Given the description of an element on the screen output the (x, y) to click on. 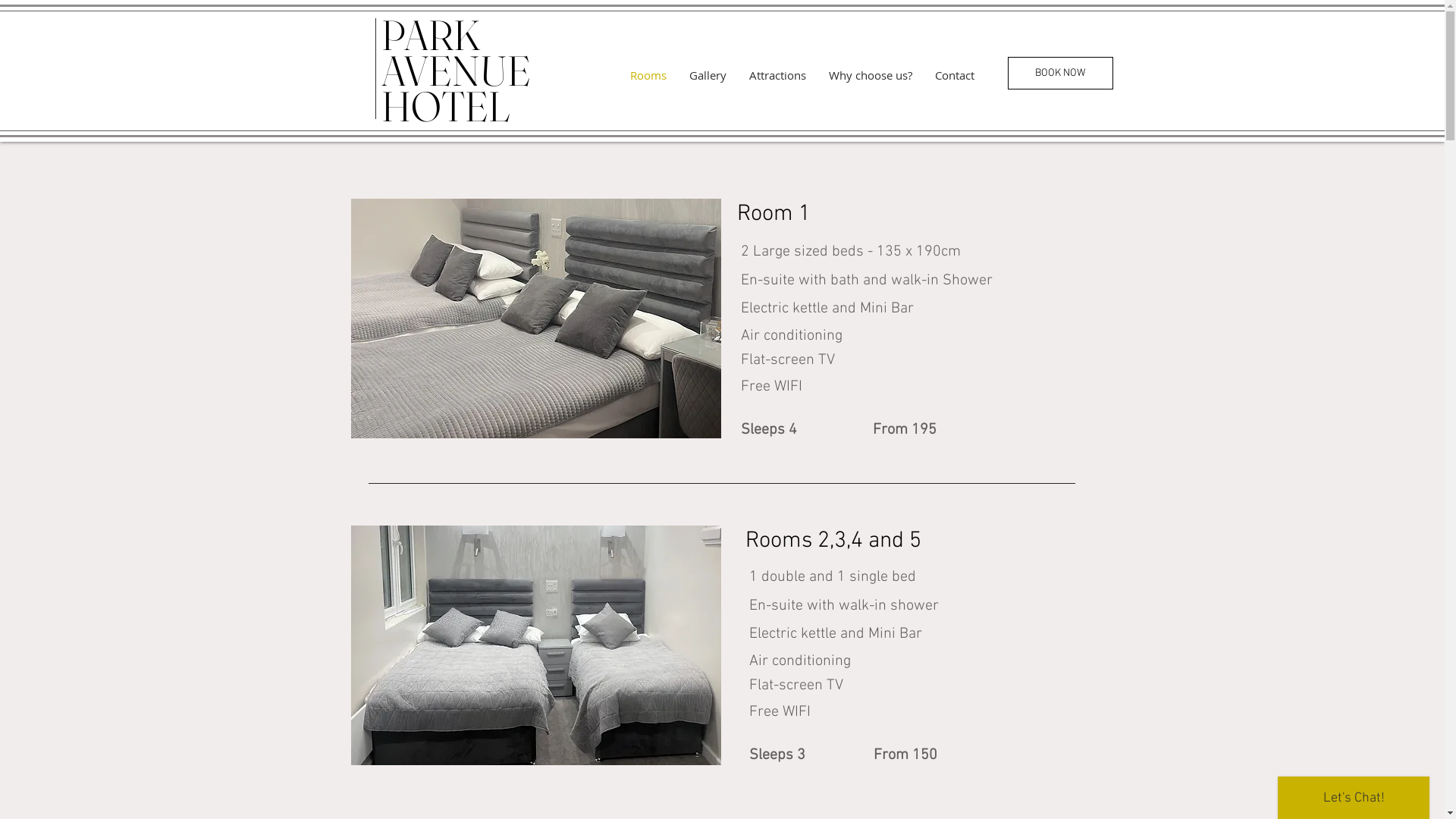
Contact Element type: text (954, 74)
Gallery Element type: text (707, 74)
BOOK NOW Element type: text (1059, 72)
Attractions Element type: text (776, 74)
PARK
AVENUE 
HOTEL Element type: text (458, 72)
Why choose us? Element type: text (870, 74)
Rooms Element type: text (647, 74)
